Given the description of an element on the screen output the (x, y) to click on. 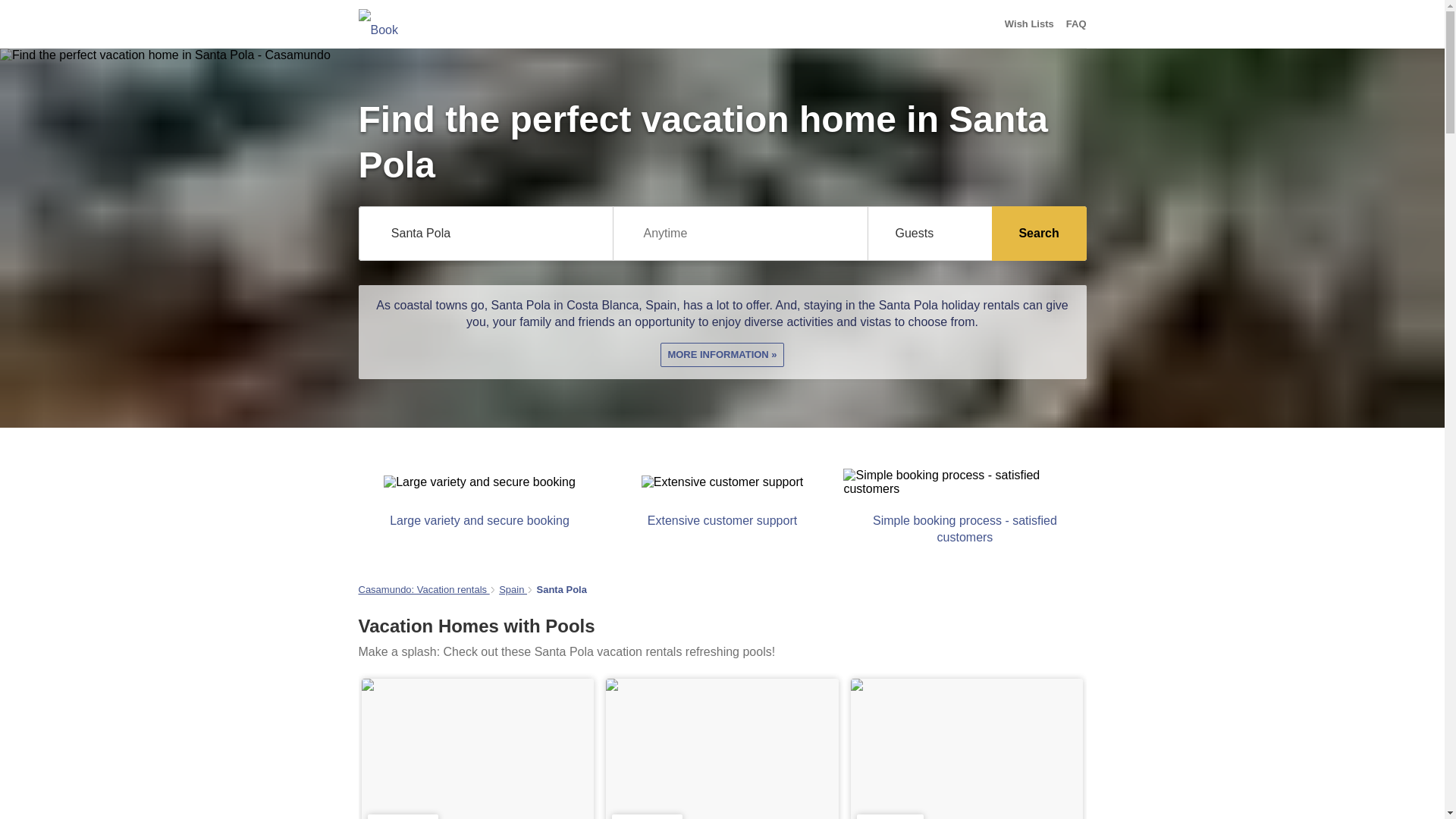
Spain (513, 589)
Casamundo: Vacation rentals (423, 589)
Search (1038, 233)
Casamundo: Vacation rentals (423, 589)
Wish Lists (1029, 24)
Spain (513, 589)
